Given the description of an element on the screen output the (x, y) to click on. 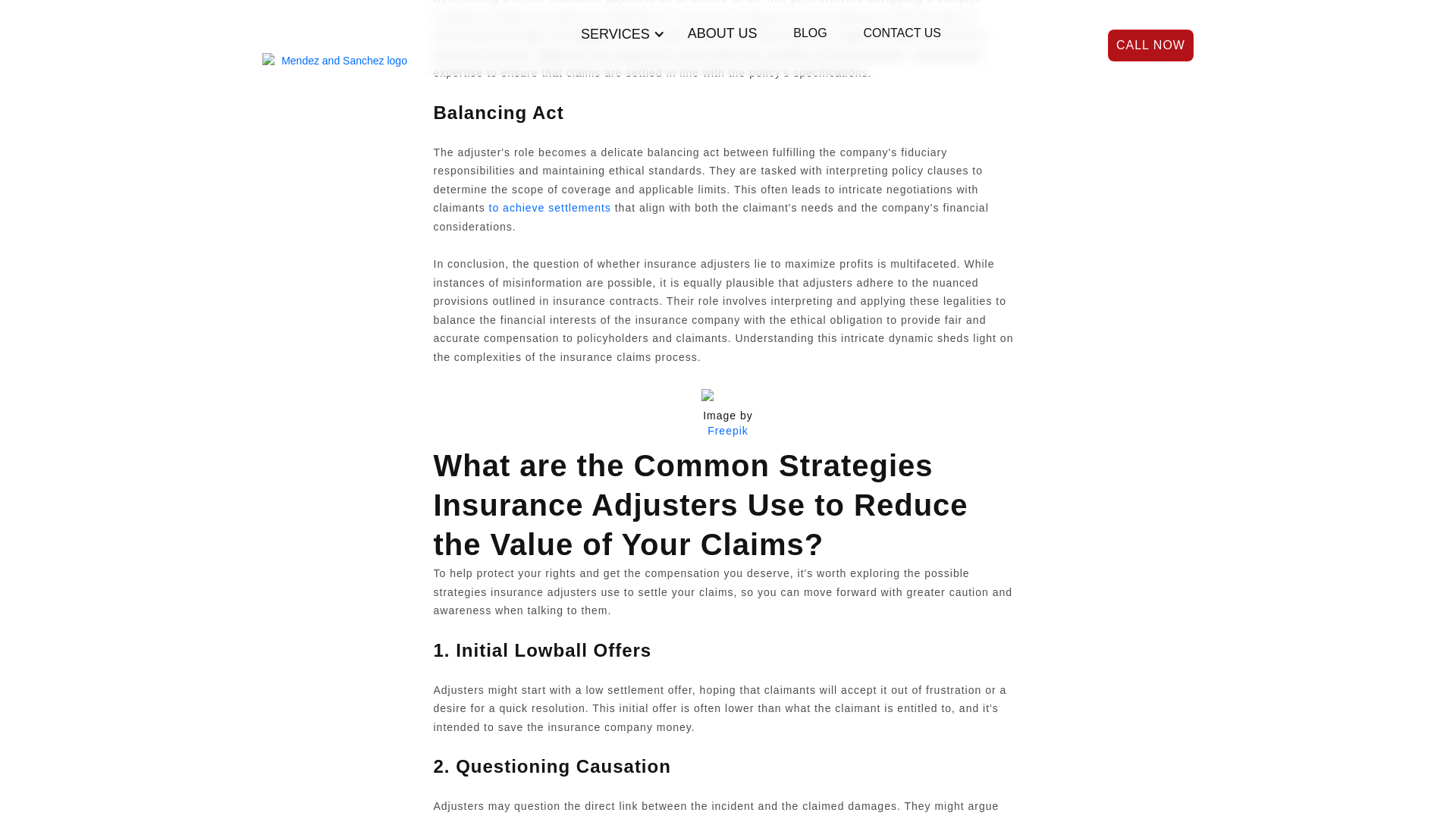
to achieve settlements (547, 207)
Freepik (727, 430)
